Given the description of an element on the screen output the (x, y) to click on. 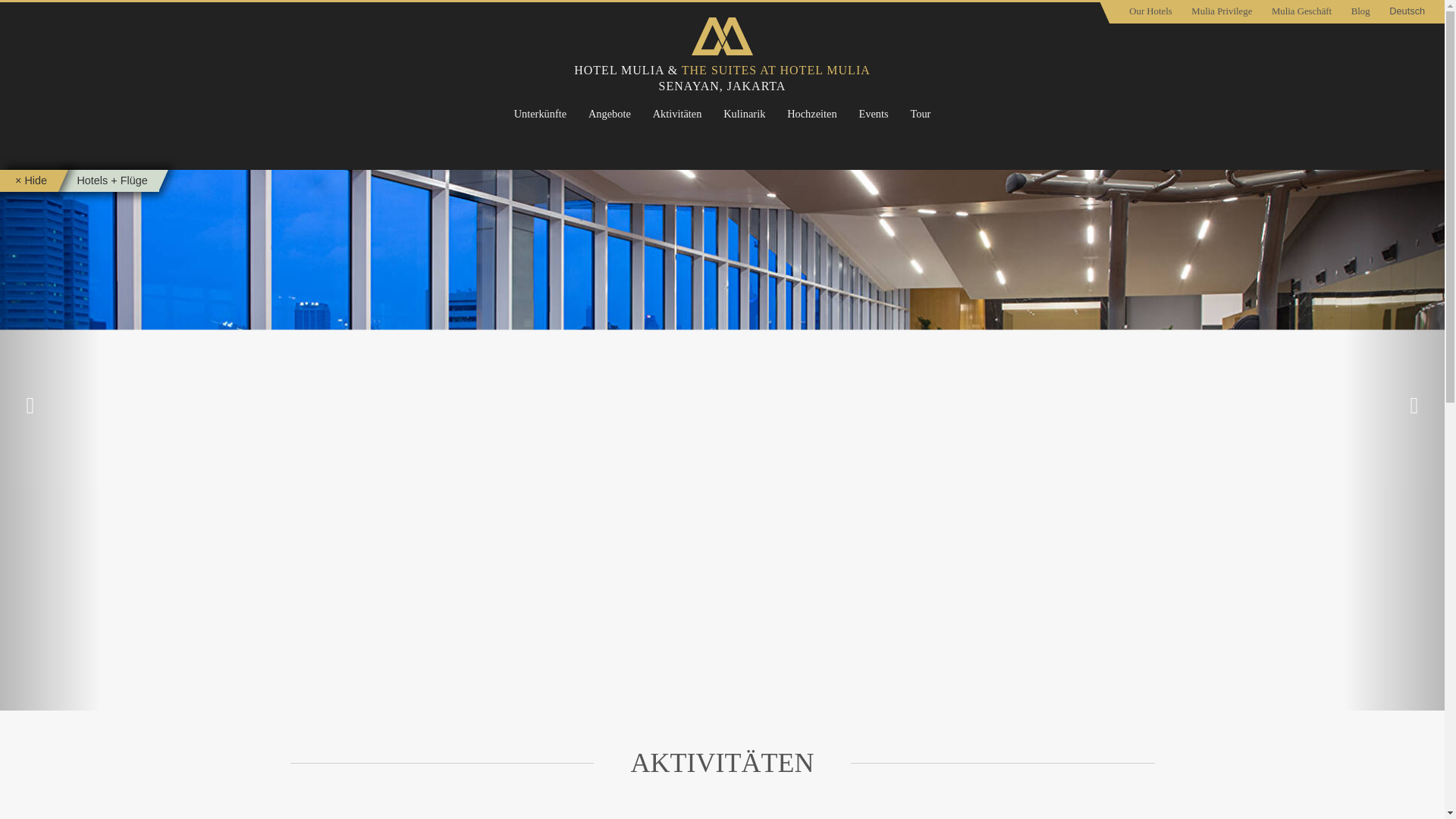
HOTEL MULIA (618, 69)
Deutsch (1406, 11)
Our Hotels (1149, 11)
Mulia Privilege (1222, 11)
Blog (1359, 11)
THE SUITES AT HOTEL MULIA (775, 69)
